Given the description of an element on the screen output the (x, y) to click on. 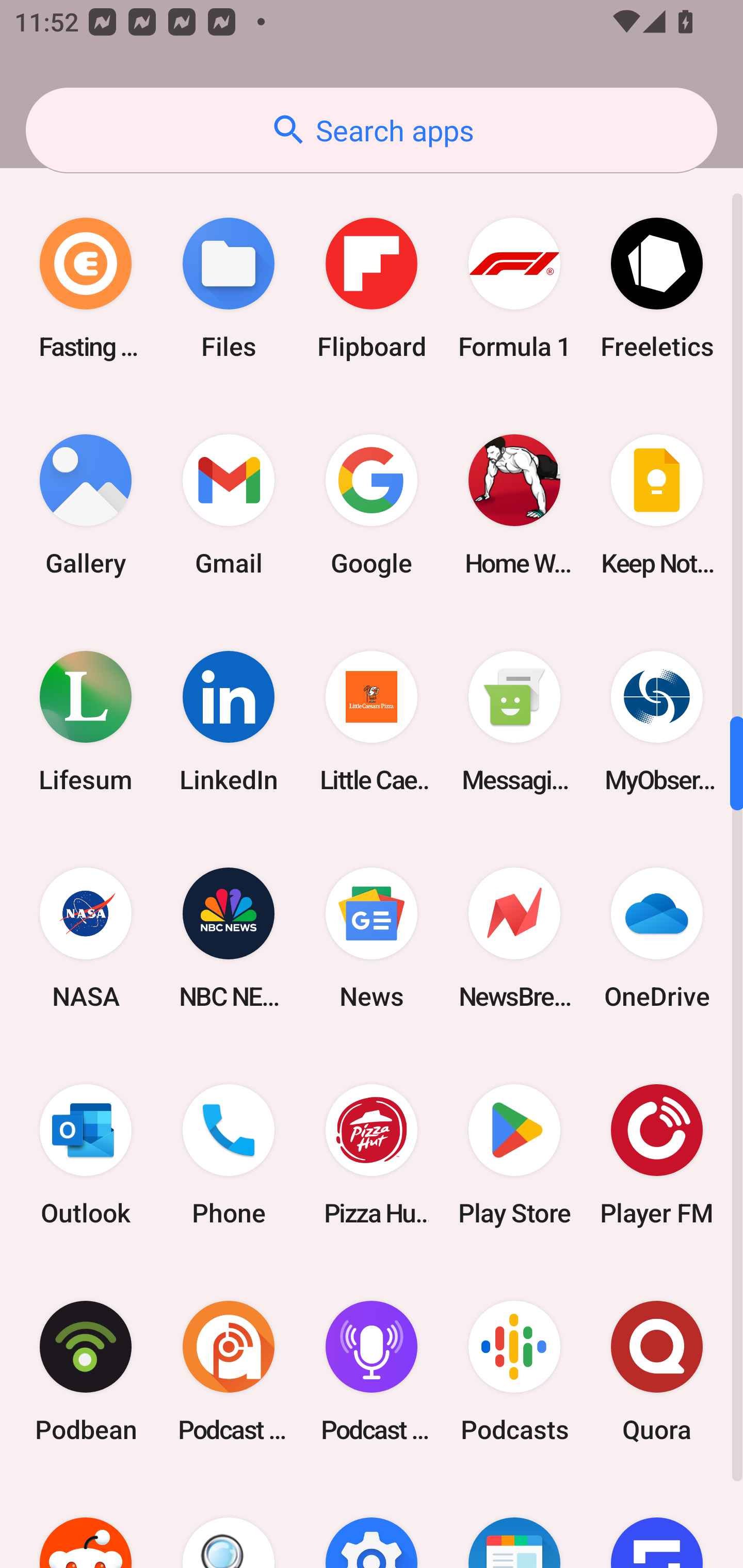
  Search apps (371, 130)
Fasting Coach (85, 288)
Files (228, 288)
Flipboard (371, 288)
Formula 1 (514, 288)
Freeletics (656, 288)
Gallery (85, 504)
Gmail (228, 504)
Google (371, 504)
Home Workout (514, 504)
Keep Notes (656, 504)
Lifesum (85, 721)
LinkedIn (228, 721)
Little Caesars Pizza (371, 721)
Messaging (514, 721)
MyObservatory (656, 721)
NASA (85, 937)
NBC NEWS (228, 937)
News (371, 937)
NewsBreak (514, 937)
OneDrive (656, 937)
Outlook (85, 1154)
Phone (228, 1154)
Pizza Hut HK & Macau (371, 1154)
Play Store (514, 1154)
Player FM (656, 1154)
Podbean (85, 1371)
Podcast Addict (228, 1371)
Podcast Player (371, 1371)
Podcasts (514, 1371)
Quora (656, 1371)
Reddit (85, 1524)
Search (228, 1524)
Settings (371, 1524)
SmartNews (514, 1524)
Sofascore (656, 1524)
